Given the description of an element on the screen output the (x, y) to click on. 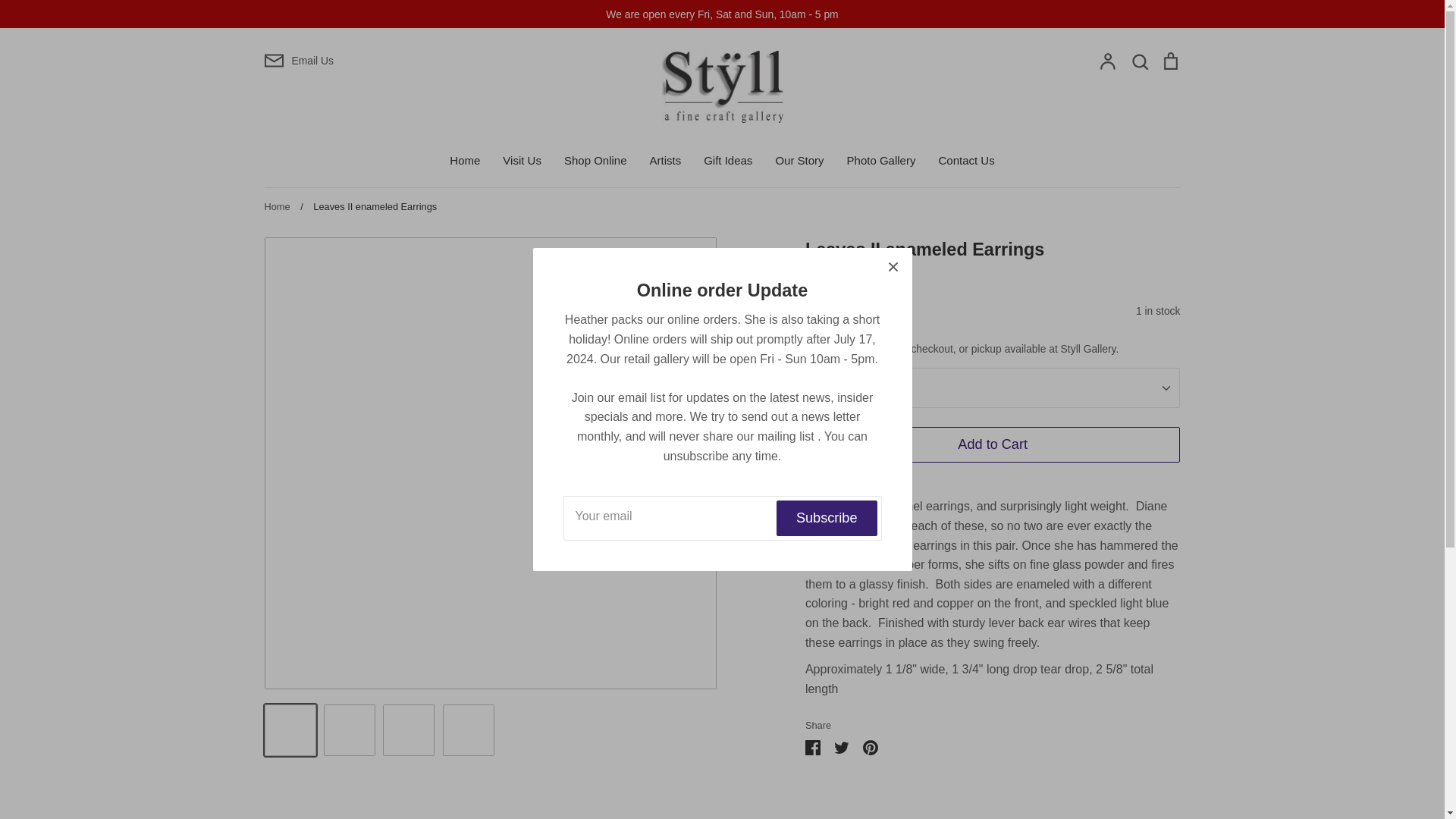
Visit Us (521, 160)
Email Us (414, 60)
1 (992, 386)
Shop Online (595, 160)
Account (1107, 61)
Search (1139, 61)
Home (464, 160)
Cart (1169, 61)
